Given the description of an element on the screen output the (x, y) to click on. 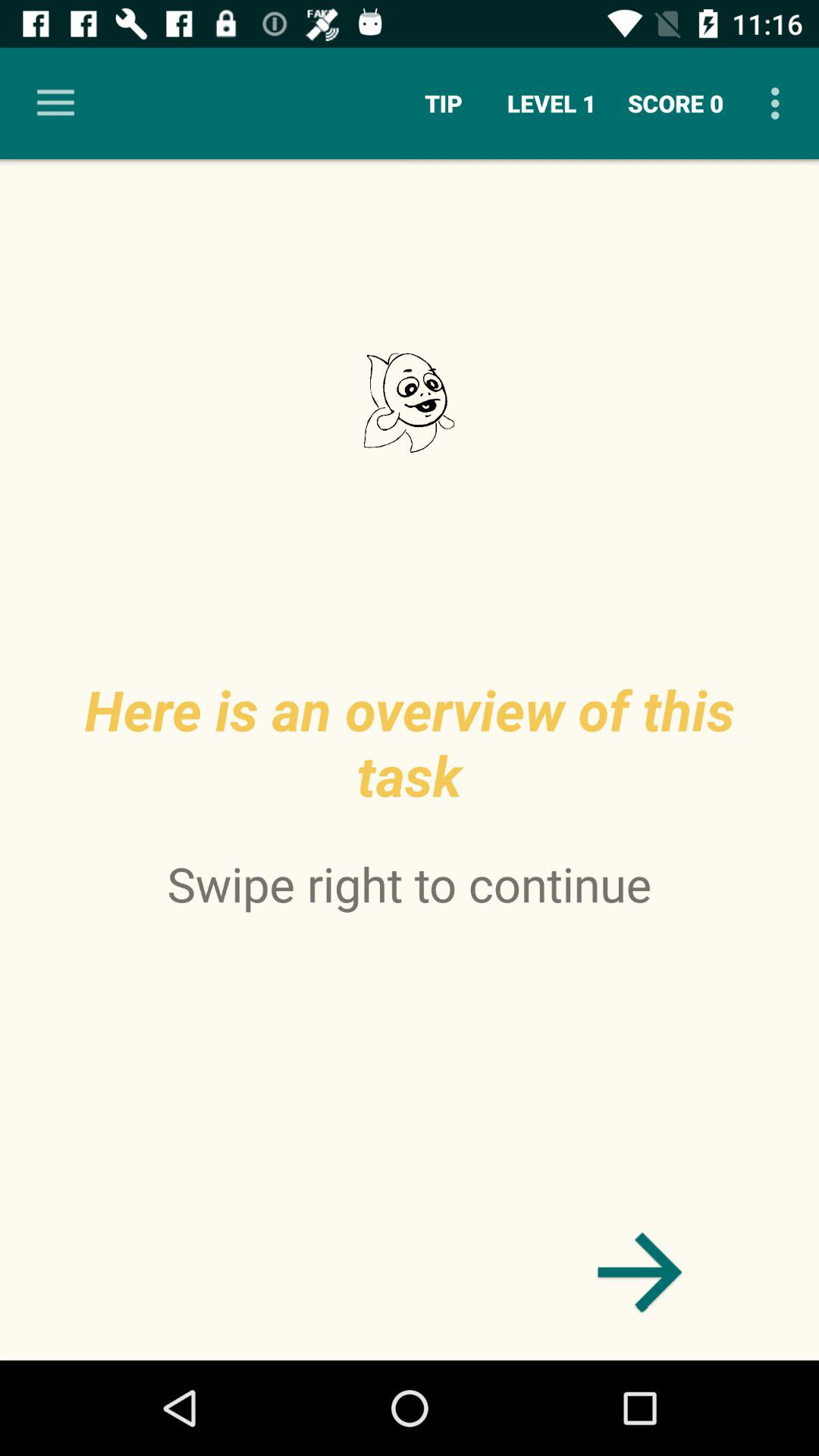
press item next to the tip (55, 103)
